Given the description of an element on the screen output the (x, y) to click on. 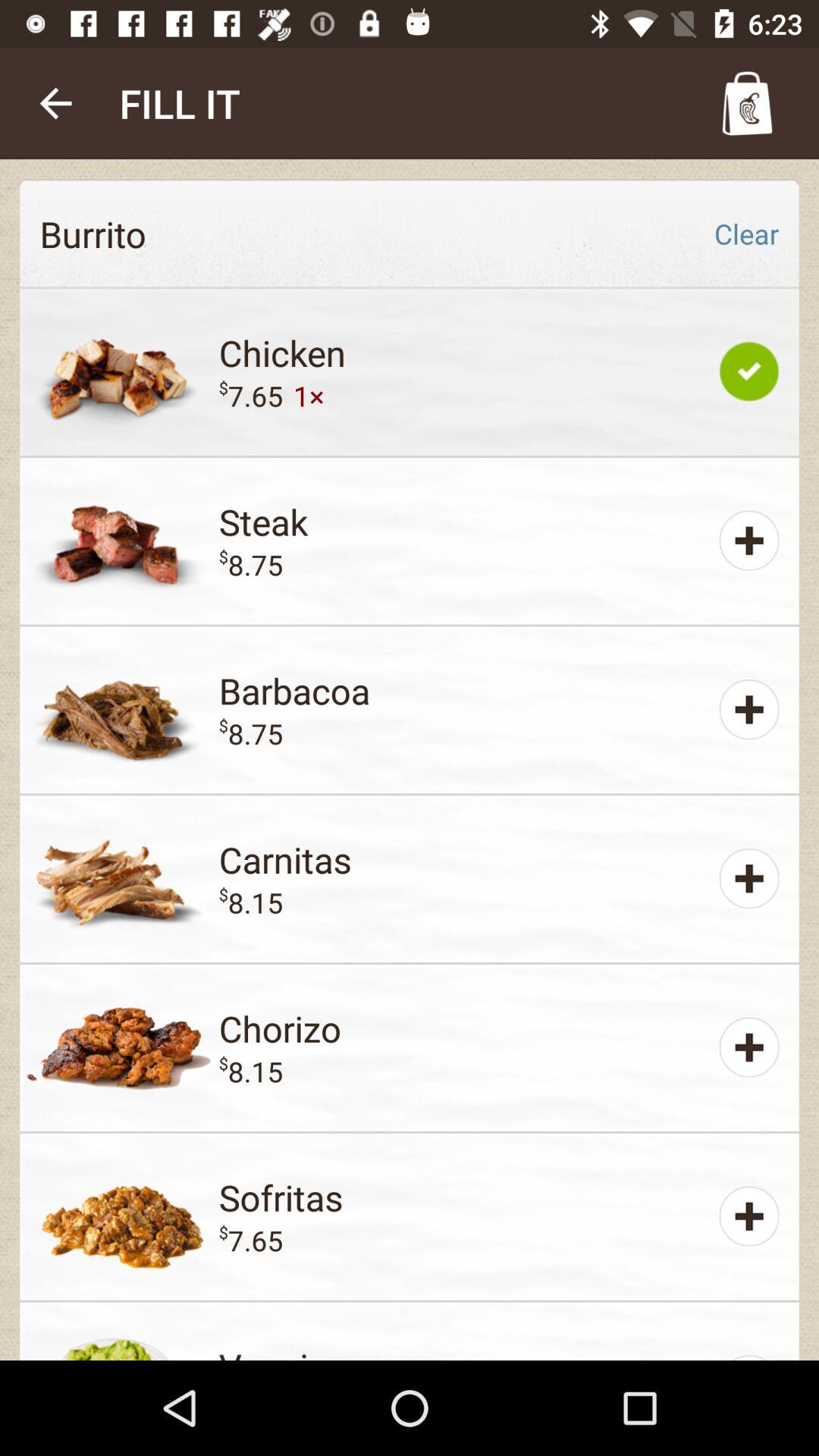
press icon next to burrito item (746, 233)
